Given the description of an element on the screen output the (x, y) to click on. 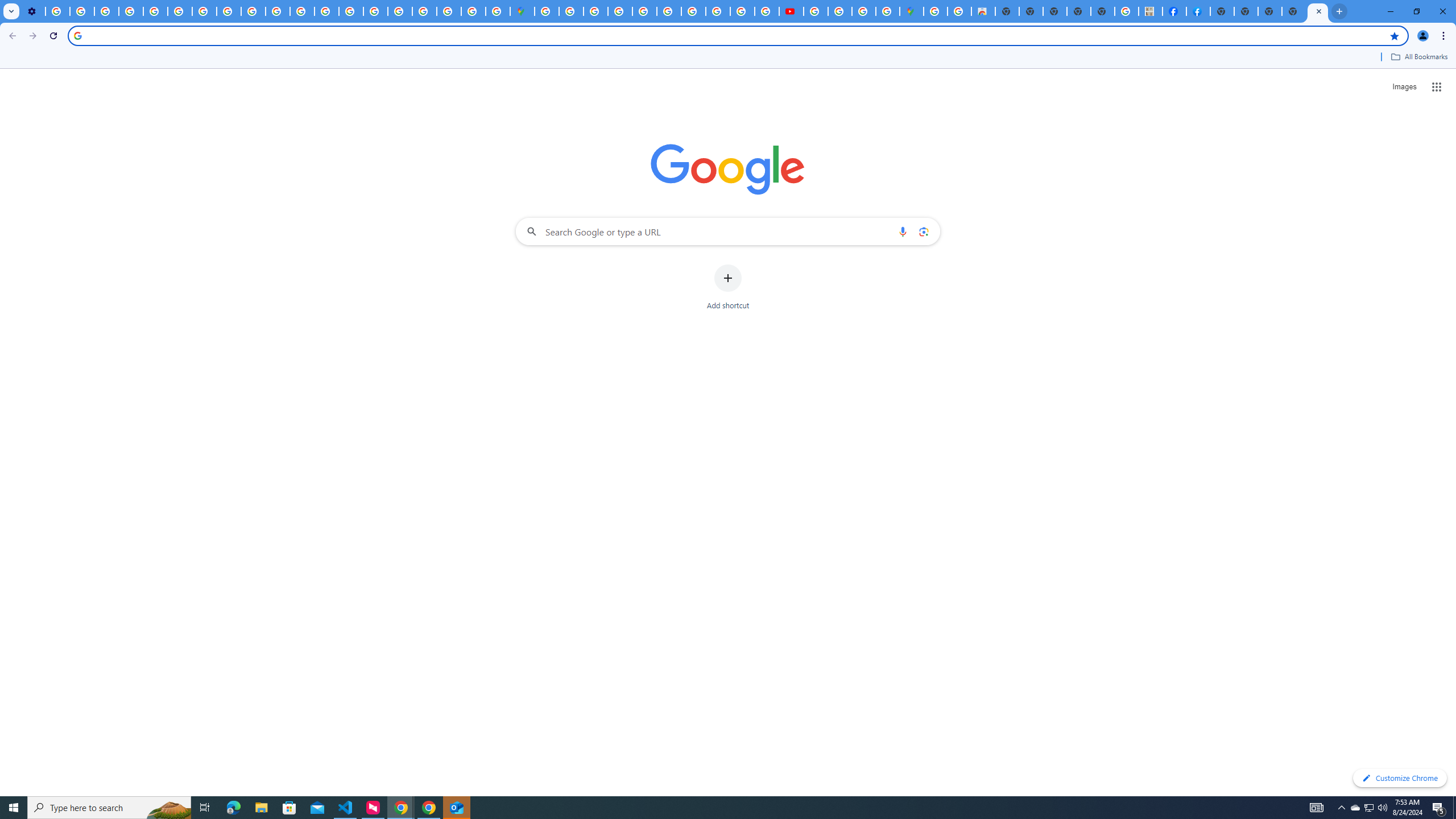
Add shortcut (727, 287)
https://scholar.google.com/ (302, 11)
Settings - Customize profile (33, 11)
Google Maps (910, 11)
Chrome Web Store - Shopping (983, 11)
Delete photos & videos - Computer - Google Photos Help (57, 11)
New Tab (1317, 11)
Blogger Policies and Guidelines - Transparency Center (692, 11)
